Given the description of an element on the screen output the (x, y) to click on. 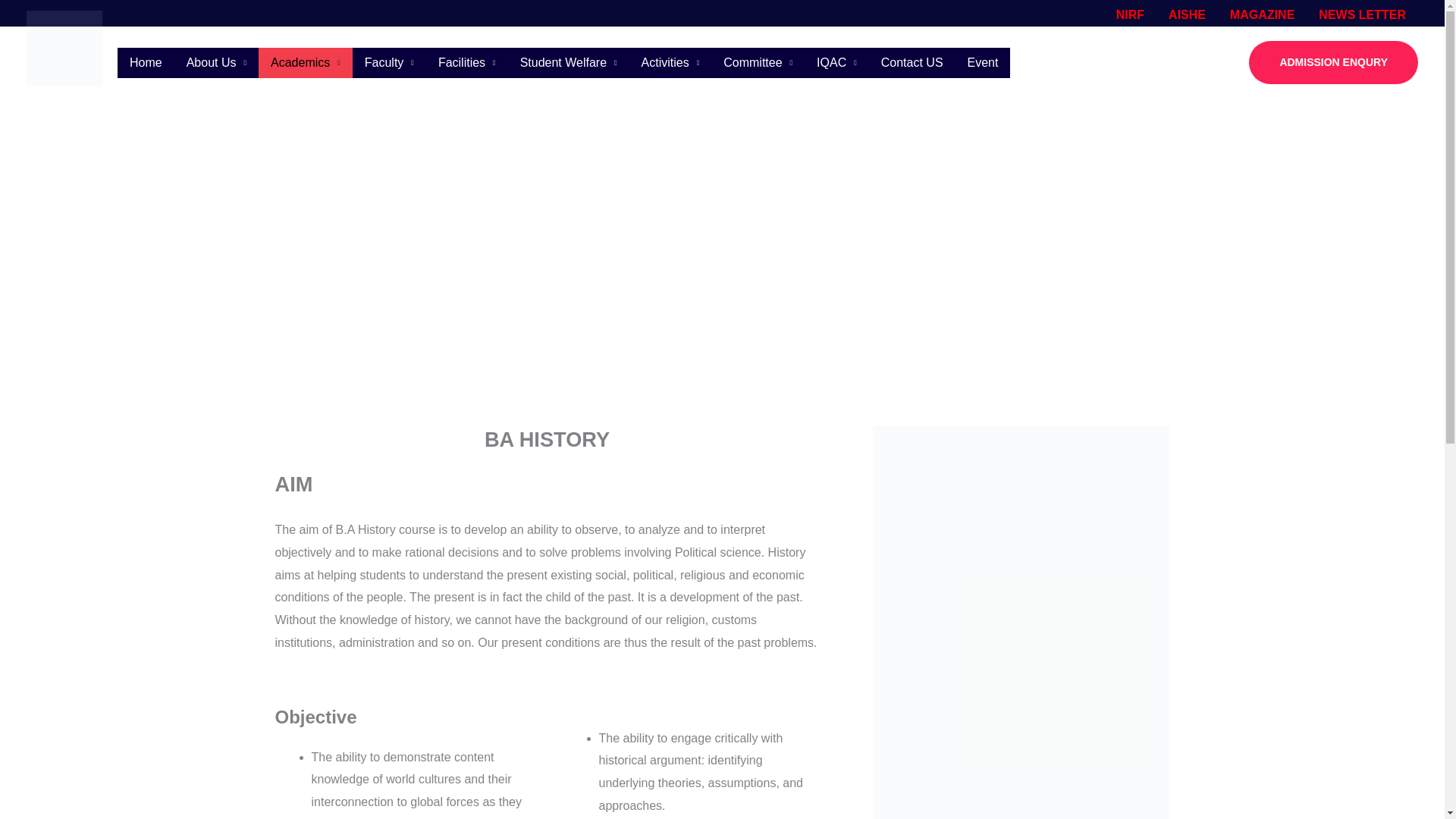
Home (145, 61)
About Us (216, 61)
NIRF (1129, 15)
Academics (305, 61)
NEWS LETTER (1362, 15)
MAGAZINE (1261, 15)
AISHE (1186, 15)
